Given the description of an element on the screen output the (x, y) to click on. 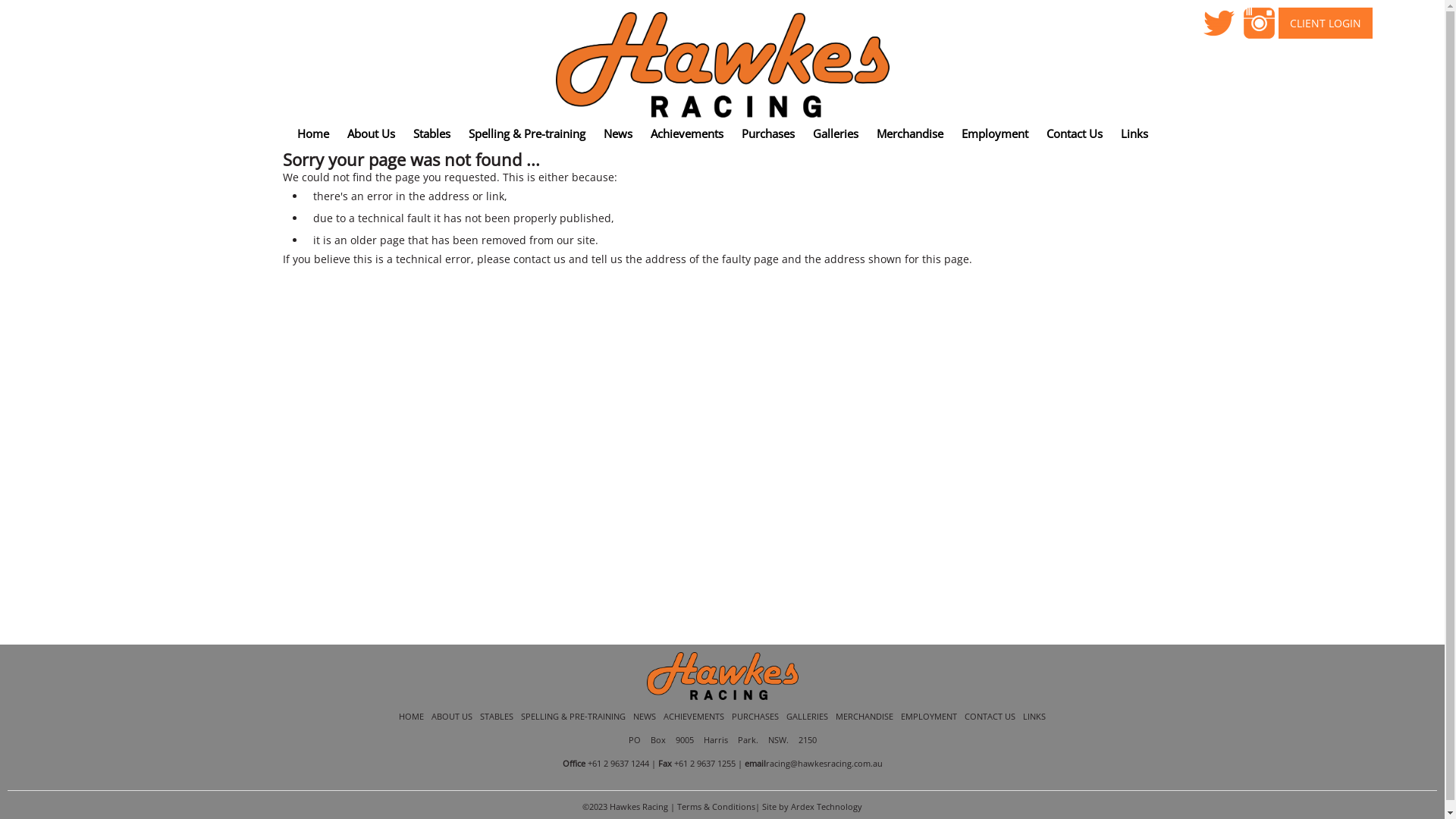
Ardex Technology Element type: text (826, 806)
LINKS Element type: text (1034, 716)
Home Element type: text (313, 133)
Galleries Element type: text (835, 133)
HOME Element type: text (411, 716)
SPELLING & PRE-TRAINING Element type: text (573, 716)
PURCHASES Element type: text (755, 716)
Links Element type: text (1134, 133)
EMPLOYMENT Element type: text (928, 716)
CLIENT LOGIN Element type: text (1325, 22)
Merchandise Element type: text (909, 133)
News Element type: text (617, 133)
ACHIEVEMENTS Element type: text (693, 716)
racing@hawkesracing.com.au Element type: text (823, 762)
Contact Us Element type: text (1074, 133)
ABOUT US Element type: text (451, 716)
Stables Element type: text (430, 133)
Employment Element type: text (994, 133)
MERCHANDISE Element type: text (864, 716)
GALLERIES Element type: text (806, 716)
STABLES Element type: text (496, 716)
NEWS Element type: text (644, 716)
Purchases Element type: text (767, 133)
CONTACT US Element type: text (989, 716)
